Given the description of an element on the screen output the (x, y) to click on. 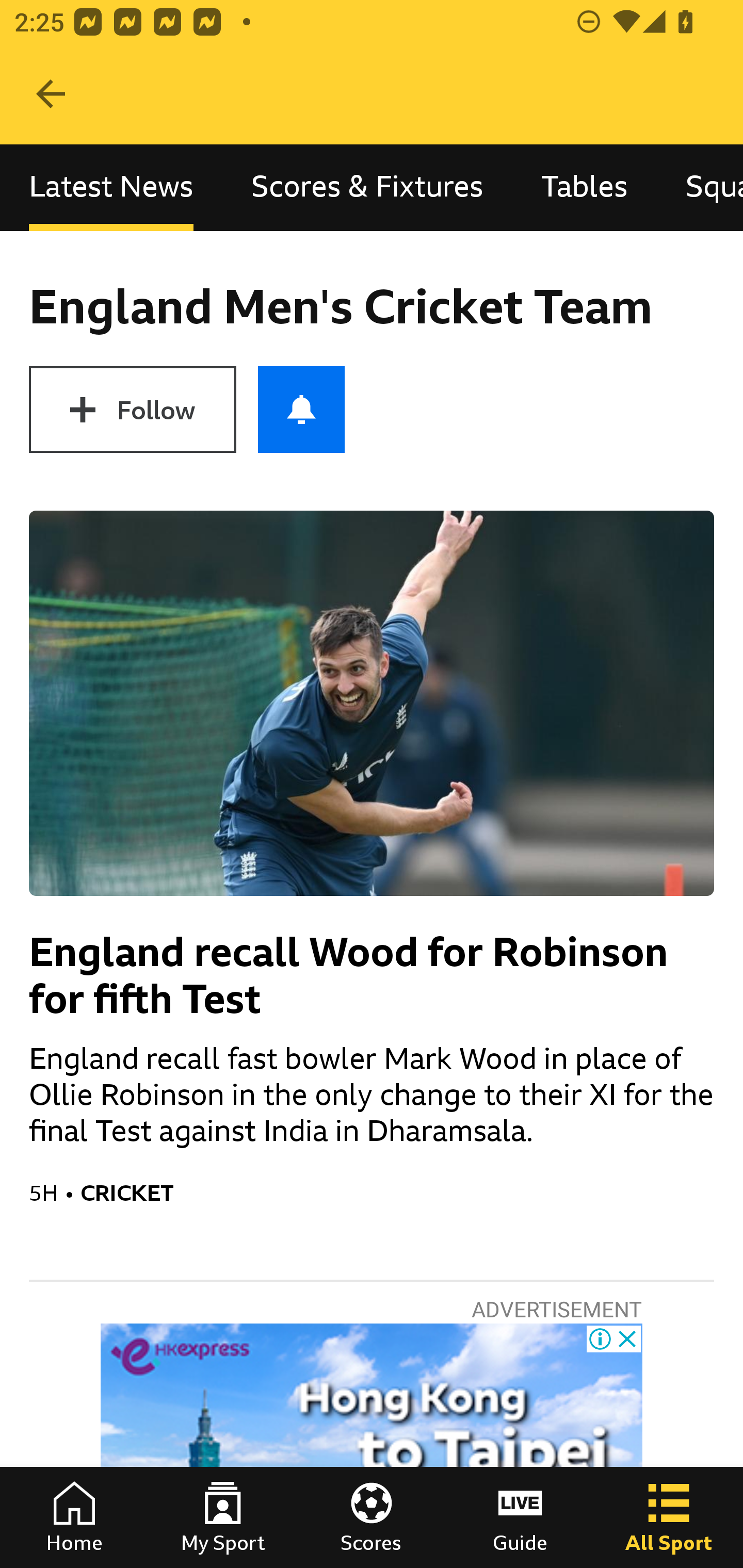
Navigate up (50, 93)
Latest News, selected Latest News (111, 187)
Scores & Fixtures (367, 187)
Tables (584, 187)
Squad (699, 187)
Follow England Men's Cricket Team Follow (132, 409)
Push notifications for England Men's Cricket Team (300, 409)
Home (74, 1517)
My Sport (222, 1517)
Scores (371, 1517)
Guide (519, 1517)
